Given the description of an element on the screen output the (x, y) to click on. 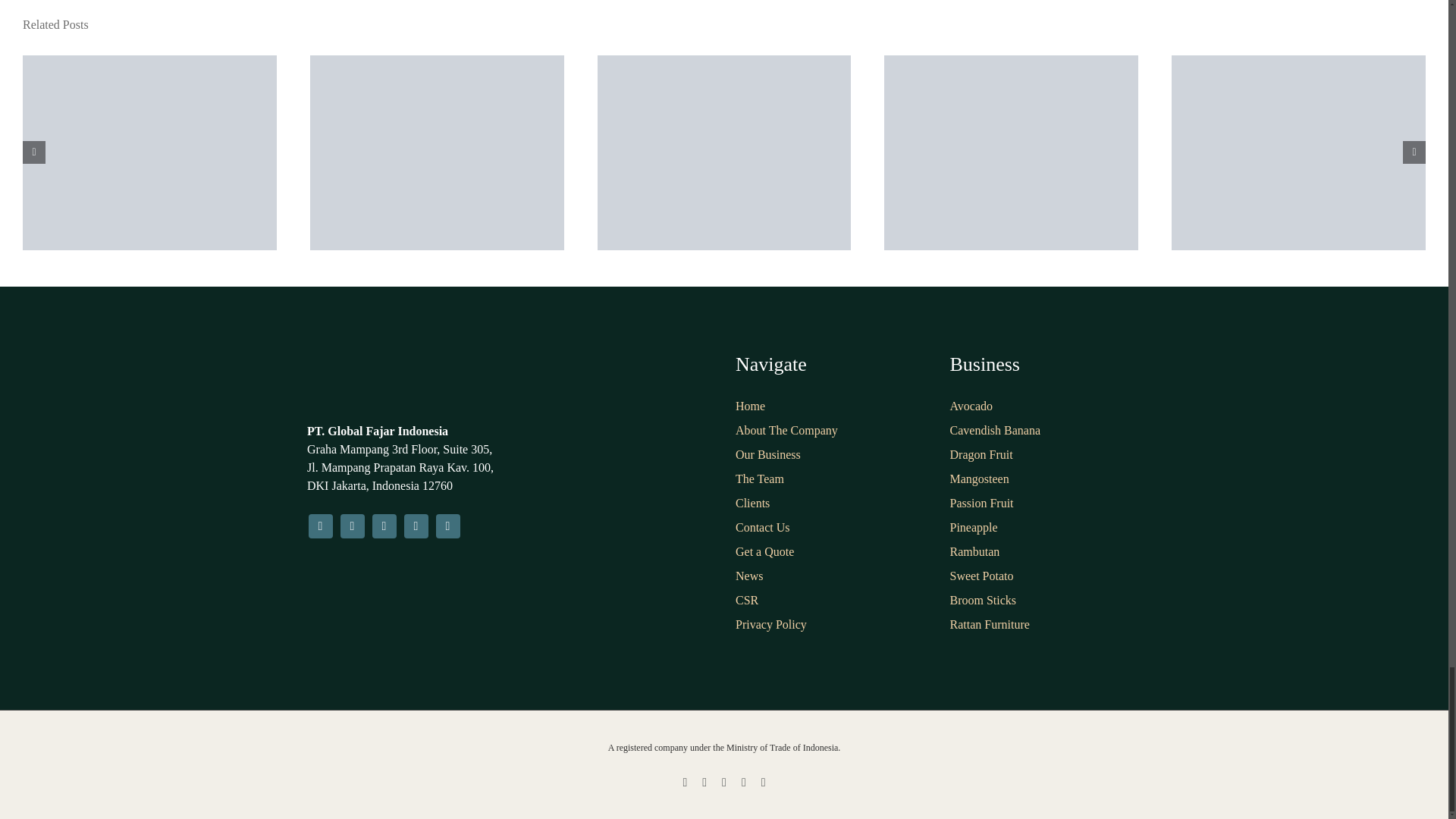
Facebook (319, 526)
Instagram (351, 526)
logo-globalfajar-80 (375, 379)
